Given the description of an element on the screen output the (x, y) to click on. 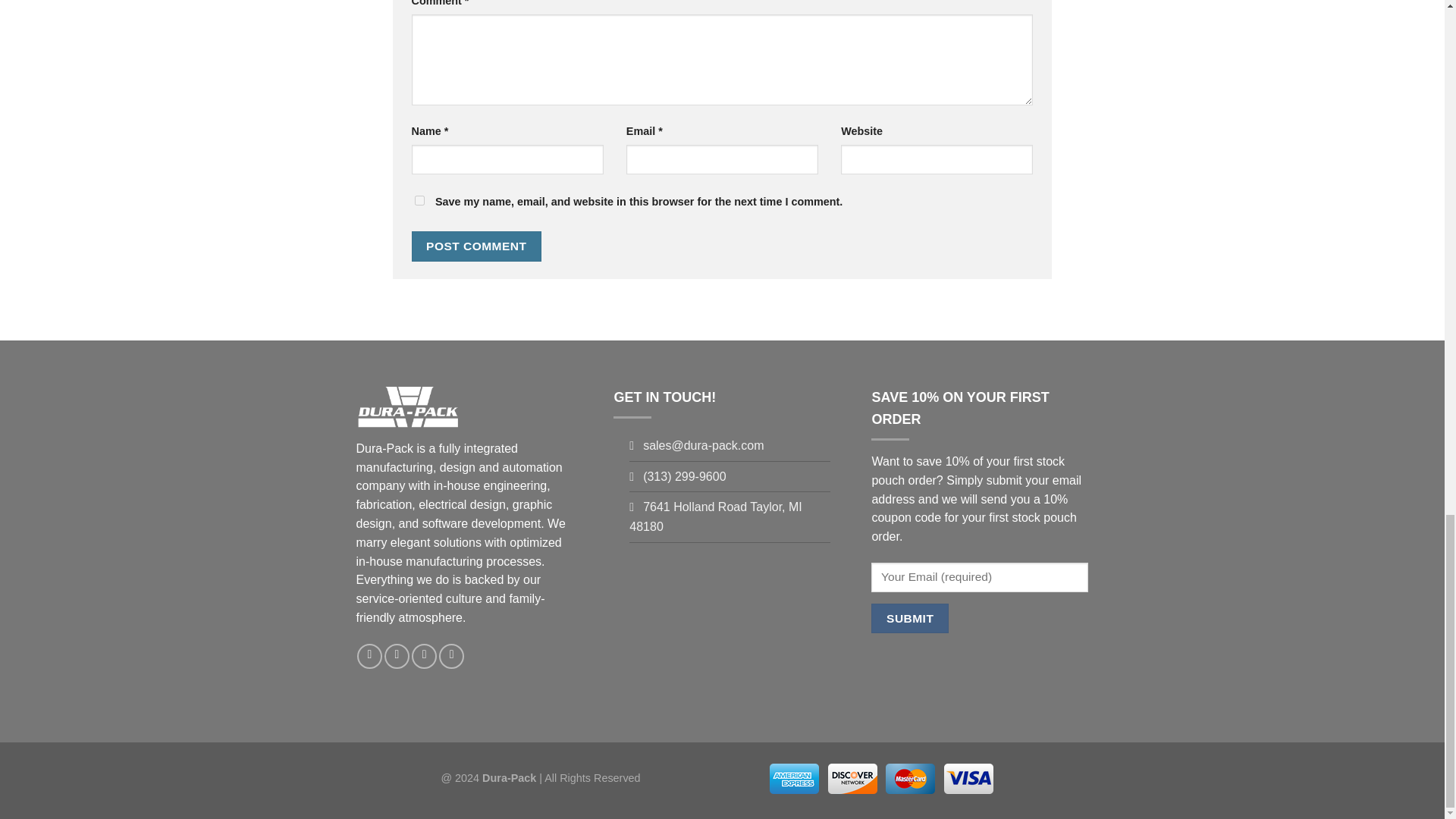
Follow on Instagram (368, 656)
yes (418, 200)
Post Comment (475, 245)
SUBMIT (908, 618)
